Given the description of an element on the screen output the (x, y) to click on. 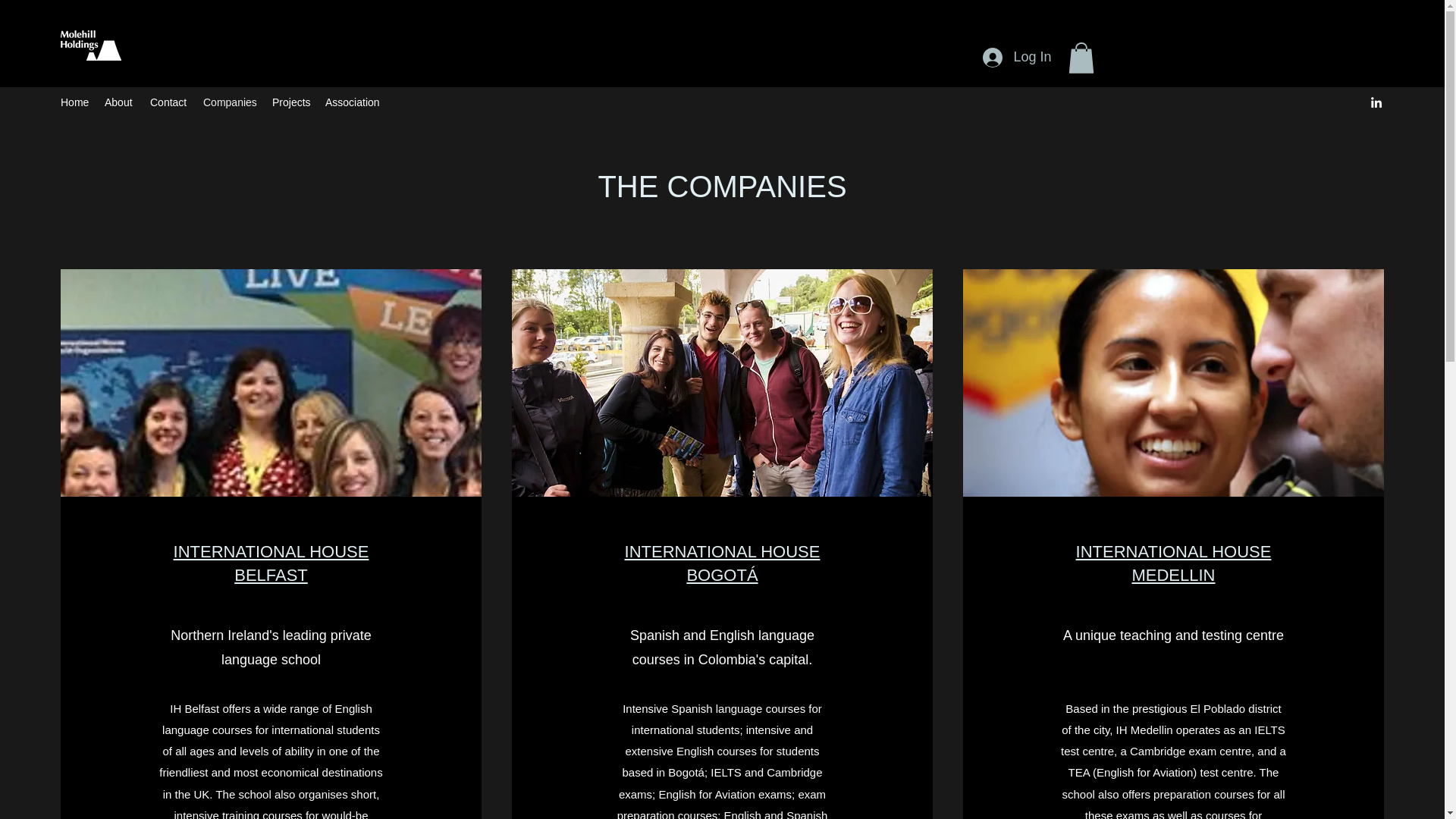
INTERNATIONAL HOUSE BELFAST (271, 563)
About (119, 101)
Contact (168, 101)
Home (74, 101)
Log In (1016, 57)
INTERNATIONAL HOUSE MEDELLIN (1173, 563)
Projects (290, 101)
Association (351, 101)
Companies (229, 101)
